Given the description of an element on the screen output the (x, y) to click on. 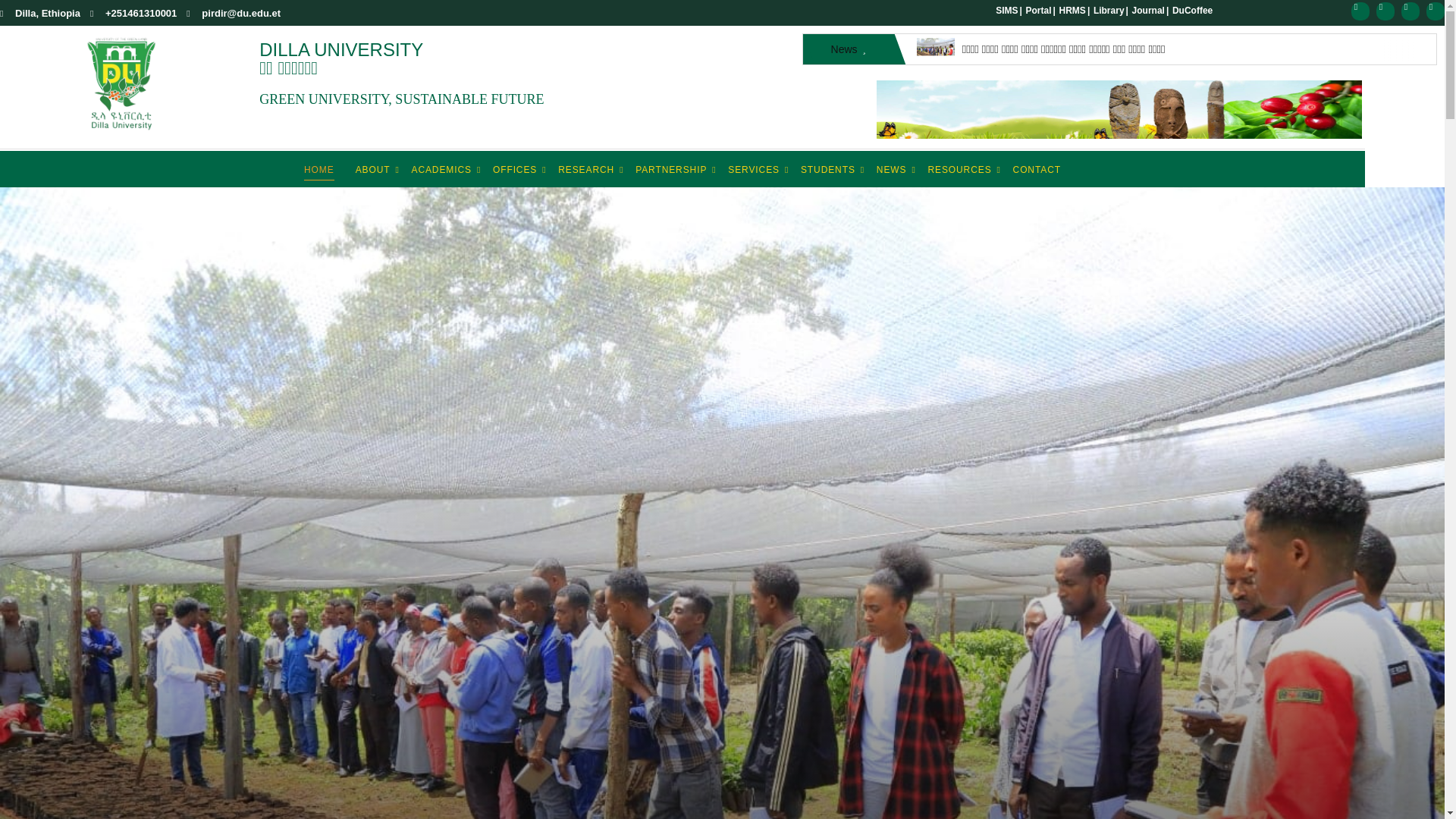
Library (1108, 9)
DuCoffee (1192, 9)
HOME (319, 169)
ABOUT (372, 169)
SIMS (1006, 9)
HRMS (1072, 9)
Journal (1148, 9)
ACADEMICS (441, 169)
Portal (1038, 9)
